Given the description of an element on the screen output the (x, y) to click on. 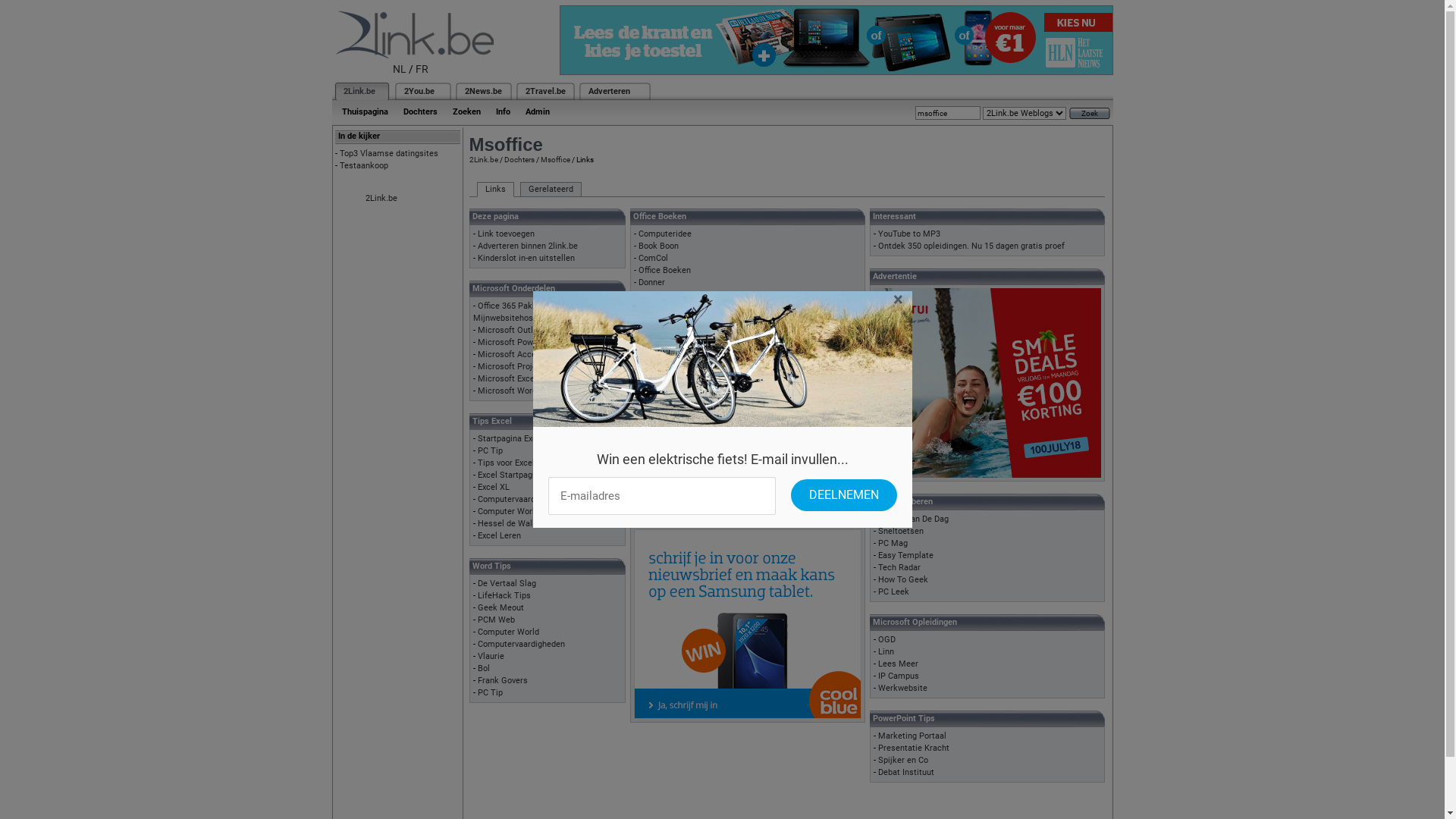
NL Element type: text (399, 68)
Thuispagina Element type: text (364, 111)
2Link.be Element type: text (482, 159)
Computer World Element type: text (508, 632)
PC Tip Element type: text (489, 450)
Dochters Element type: text (518, 159)
Microsoft Access Element type: text (511, 354)
2Travel.be Element type: text (544, 91)
PCM Web Element type: text (495, 619)
Kinderslot in-en uitstellen Element type: text (525, 258)
LifeHack Tips Element type: text (503, 595)
Geek Meout Element type: text (500, 607)
Adverteren Element type: text (609, 91)
Excel XL Element type: text (654, 390)
Microsoft Project Element type: text (510, 366)
Startpagina Excel Element type: text (510, 438)
Ontdek 350 opleidingen. Nu 15 dagen gratis proef Element type: text (971, 246)
Computer World Element type: text (508, 511)
Testaankoop Element type: text (363, 165)
Office Boeken Element type: text (664, 270)
MS Access Tips Element type: text (669, 330)
Data Base Journal Element type: text (672, 342)
Top3 Vlaamse datingsites Element type: text (388, 153)
Werkwebsite Element type: text (902, 688)
MO Acces Tips Element type: text (667, 366)
Vlaurie Element type: text (490, 656)
Presentatie Kracht Element type: text (913, 748)
Book Boon Element type: text (658, 246)
Microsoft Word Element type: text (506, 390)
PC Tricks Element type: text (656, 378)
Computeridee Element type: text (664, 233)
Debat Instituut Element type: text (906, 772)
Marketing Portaal Element type: text (912, 735)
Link toevoegen Element type: text (505, 233)
YouTube to MP3 Element type: text (909, 233)
Msoffice Element type: text (554, 159)
Microsoft Excel Element type: text (506, 378)
Zoeken Element type: text (465, 111)
Tips in Engels Element type: text (664, 487)
Info Element type: text (502, 111)
PC Mag Element type: text (653, 354)
Spijker en Co Element type: text (903, 760)
Tips voor Excel Element type: text (505, 462)
De Vertaal Slag Element type: text (506, 583)
Donner Element type: text (651, 282)
Microsoft Outlook Element type: text (511, 330)
How To Geek Element type: text (903, 579)
Office 365 Pakketten Mijnwebsitehosting Element type: text (514, 312)
PC Leek Element type: text (893, 591)
Excel Startpagina Element type: text (510, 475)
2Link.be Element type: text (358, 91)
Microsoft PowerPoint Element type: text (518, 342)
Tech Radar Element type: text (899, 567)
Computervaardigheden Element type: text (520, 644)
Dochters Element type: text (420, 111)
Computer Totaal Element type: text (669, 462)
Adverteren binnen 2link.be Element type: text (527, 246)
Excel Leren Element type: text (498, 535)
PC Mag Element type: text (892, 543)
2You.be Element type: text (418, 91)
De Zaak Element type: text (653, 475)
Gerelateerd Element type: text (550, 189)
OGD Element type: text (886, 639)
Linn Element type: text (886, 651)
Bol Element type: text (483, 668)
Excel XL Element type: text (493, 487)
Easy Template Element type: text (905, 555)
Zoek Element type: text (1089, 113)
IP Campus Element type: text (898, 675)
Hessel de Walle Element type: text (508, 523)
PC Tip van de Dag Element type: text (672, 438)
2Link.be Element type: text (381, 198)
PC Tip Van De Dag Element type: text (913, 519)
2News.be Element type: text (482, 91)
Lees Meer Element type: text (898, 663)
Computervaardigheden Element type: text (520, 499)
ComCol Element type: text (653, 258)
Sneltoetsen Element type: text (900, 531)
Frank Govers Element type: text (502, 680)
PC Tip Element type: text (489, 692)
FR Element type: text (421, 68)
Admin Element type: text (536, 111)
Headfirst Element type: text (655, 450)
Links Element type: text (494, 189)
